Given the description of an element on the screen output the (x, y) to click on. 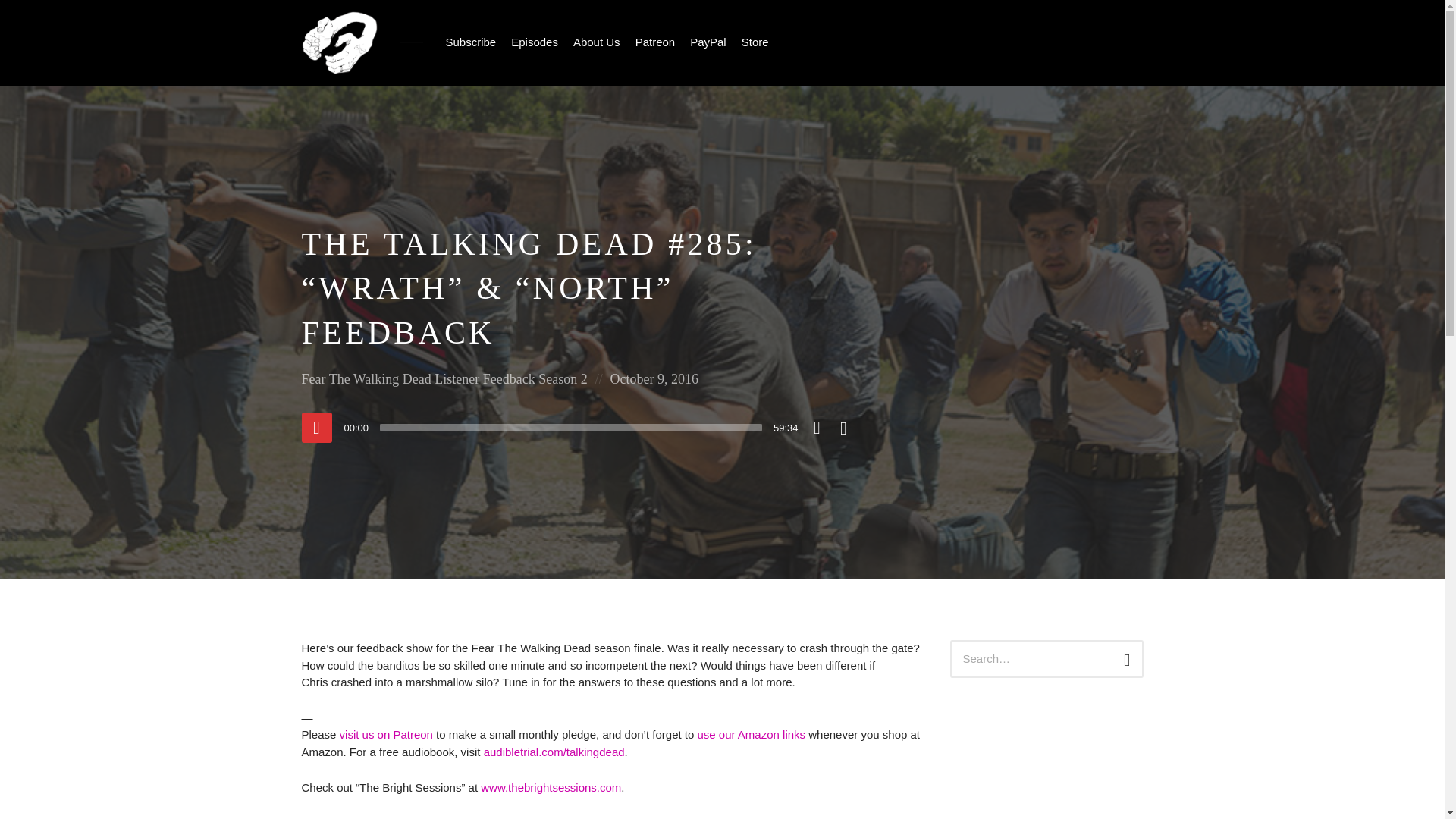
Play (316, 427)
The Talking Dead on Patreon (385, 734)
Episodes (534, 42)
Subscribe (470, 42)
